Given the description of an element on the screen output the (x, y) to click on. 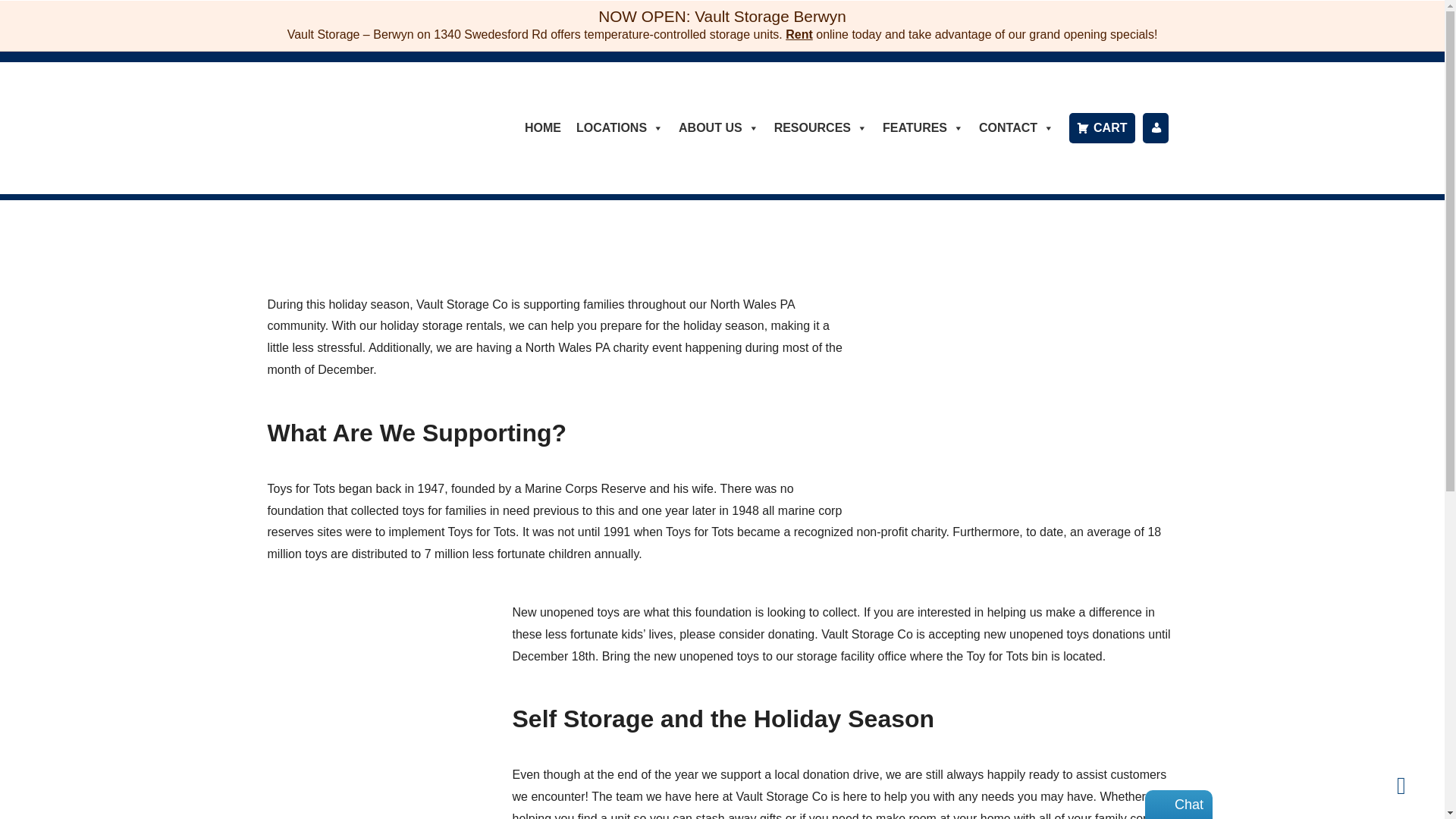
HOME (542, 128)
CART (1101, 128)
Rent (799, 33)
LOCATIONS (620, 128)
FEATURES (923, 128)
RESOURCES (821, 128)
Toys for Tots (300, 488)
ABOUT US (719, 128)
CONTACT (1016, 128)
